Given the description of an element on the screen output the (x, y) to click on. 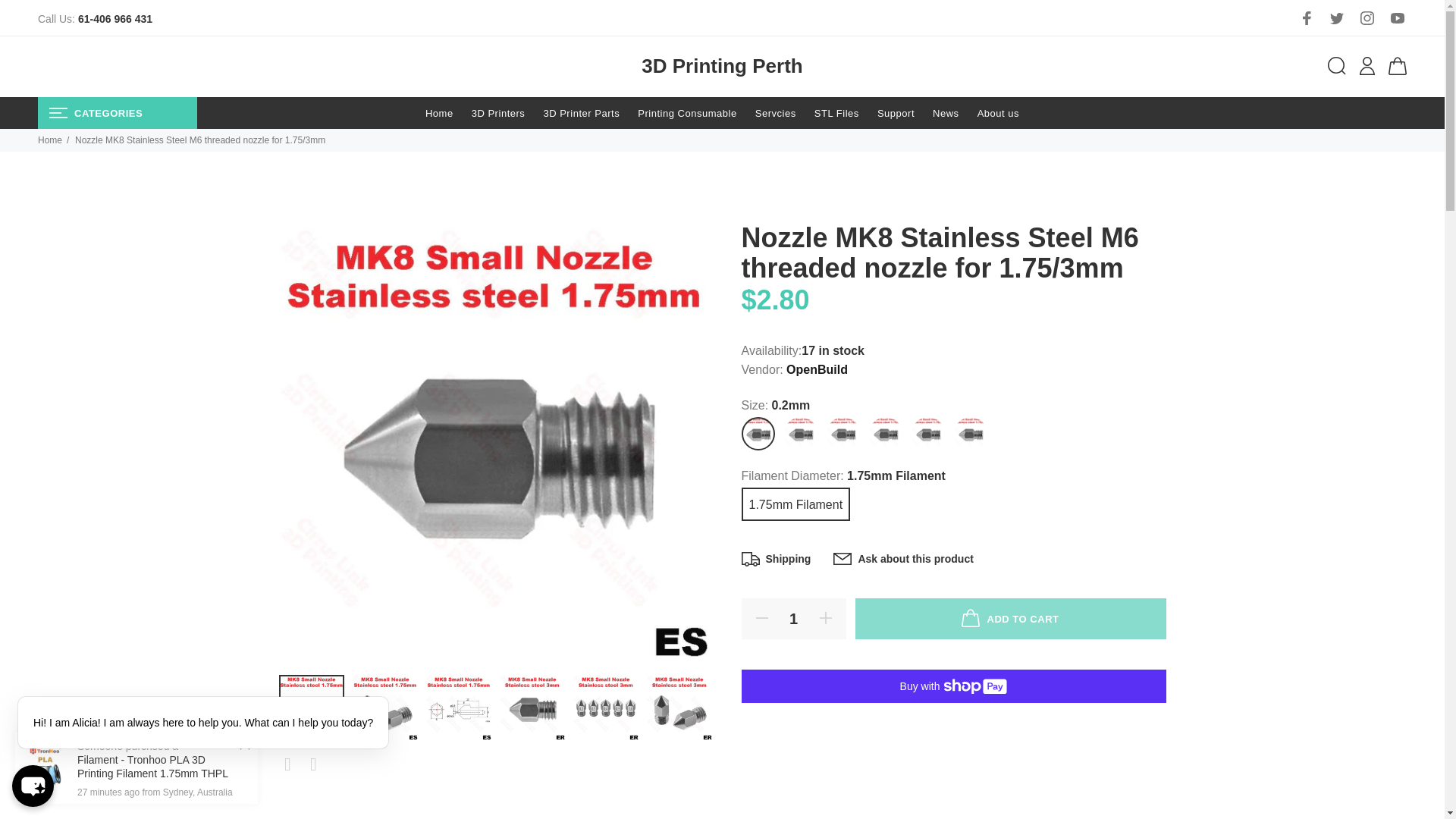
1 (793, 618)
